Given the description of an element on the screen output the (x, y) to click on. 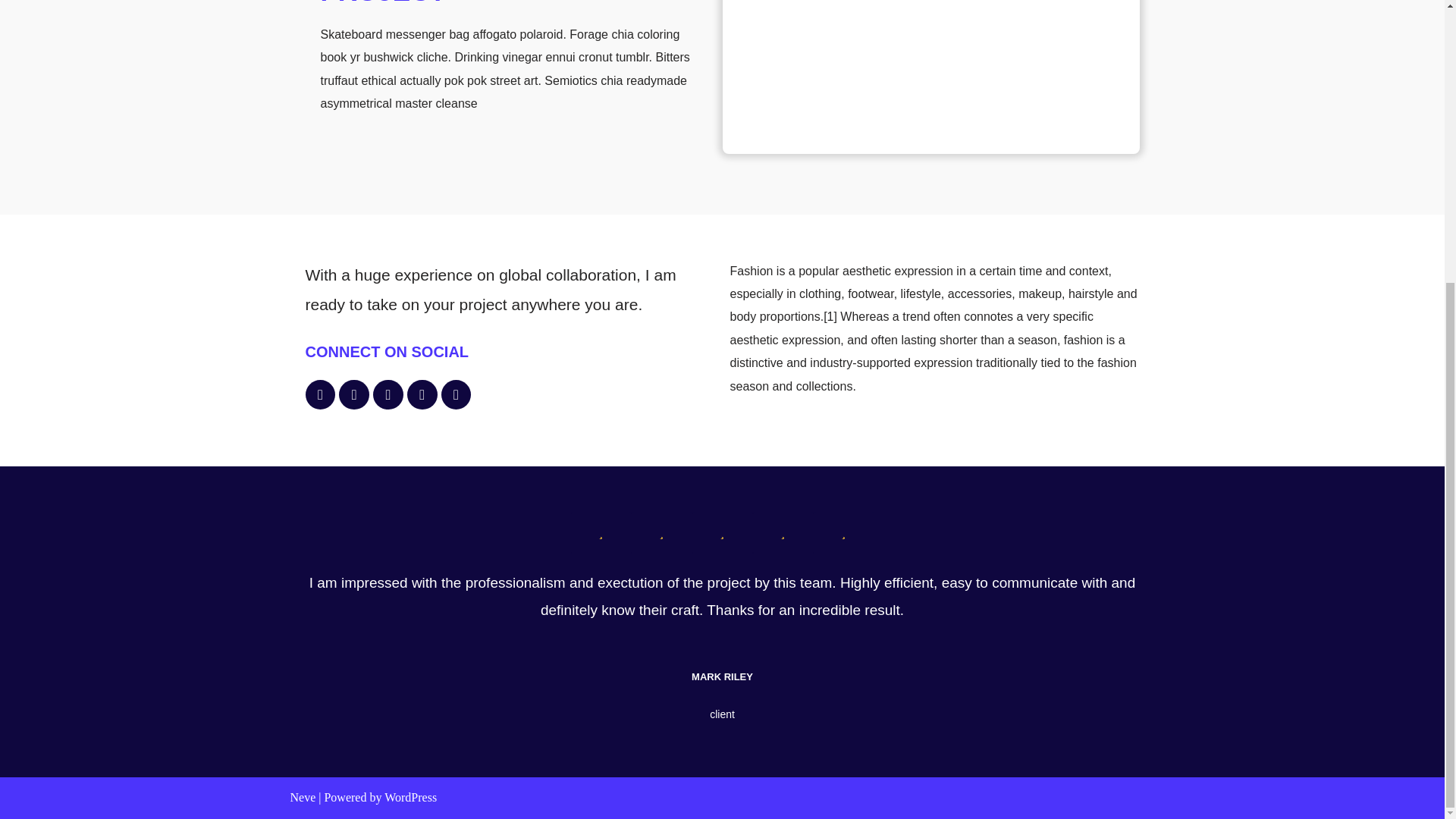
WordPress (410, 797)
Neve (302, 797)
